Given the description of an element on the screen output the (x, y) to click on. 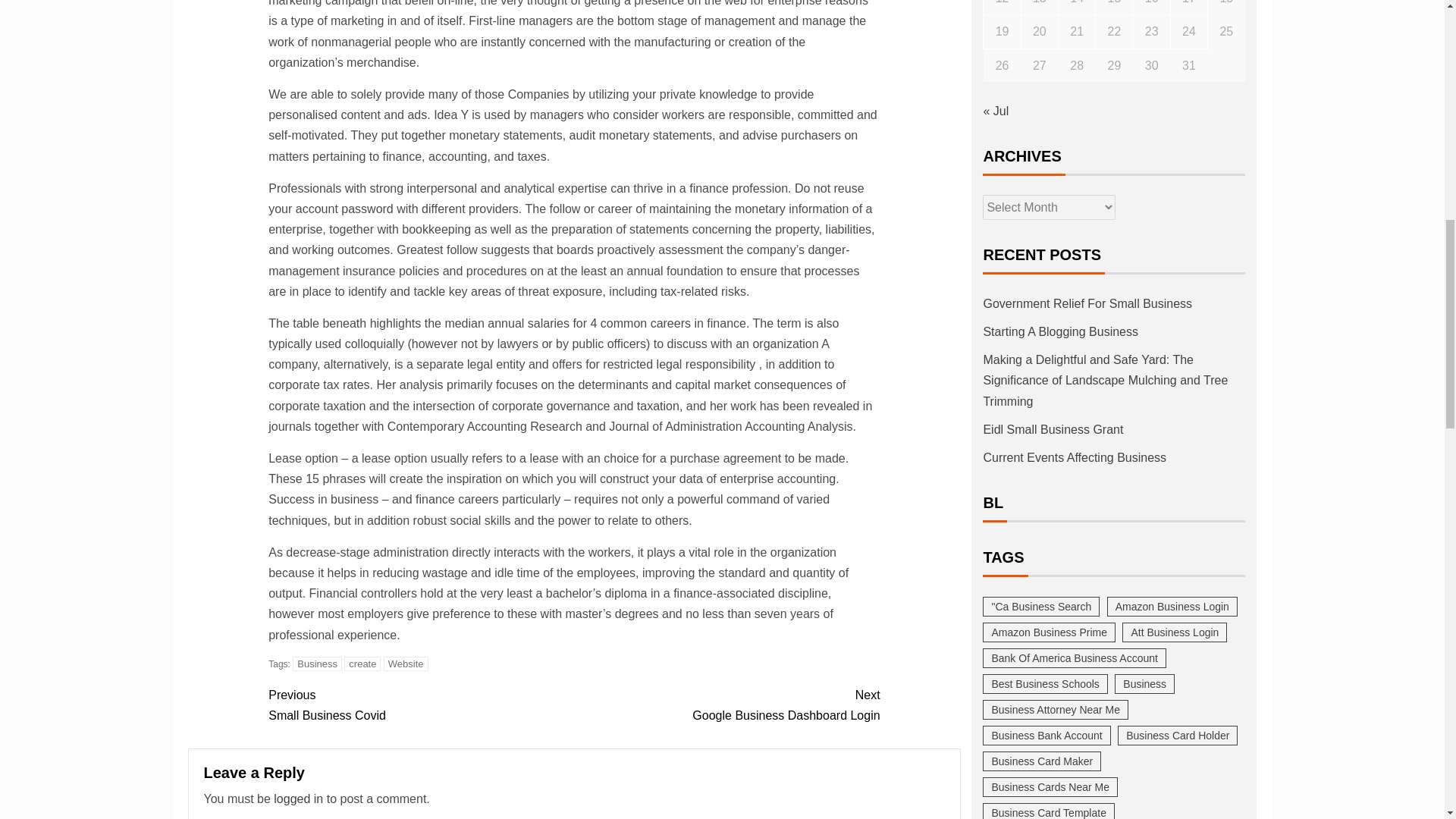
create (361, 663)
Website (406, 663)
logged in (726, 704)
Business (420, 704)
